Given the description of an element on the screen output the (x, y) to click on. 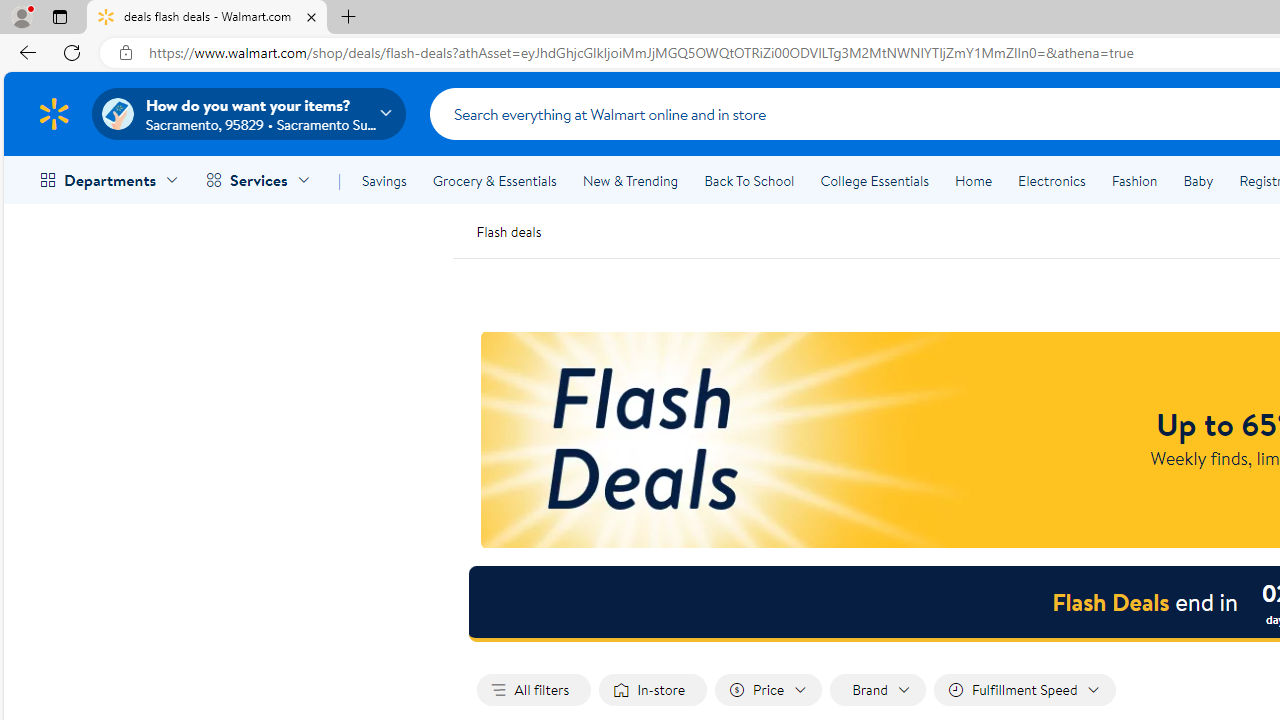
Back To School (749, 180)
Electronics (1051, 180)
Grocery & Essentials (493, 180)
deals flash deals - Walmart.com (207, 17)
New & Trending (630, 180)
Savings (384, 180)
Fashion (1134, 180)
Back To School (749, 180)
Flash deals (508, 230)
Filter by Fulfillment Speed not applied, activate to change (1024, 690)
